Given the description of an element on the screen output the (x, y) to click on. 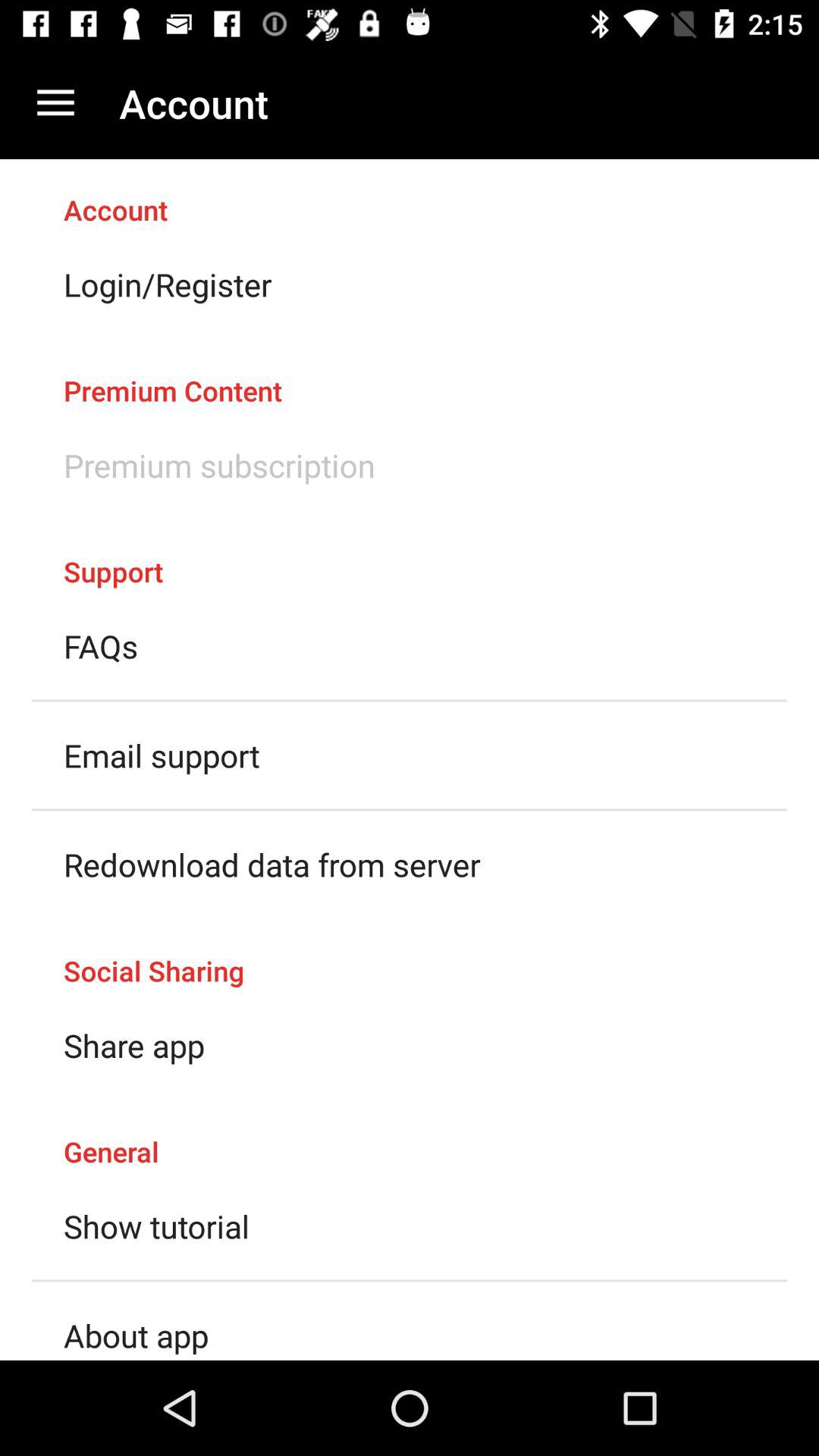
turn on premium subscription icon (219, 464)
